Given the description of an element on the screen output the (x, y) to click on. 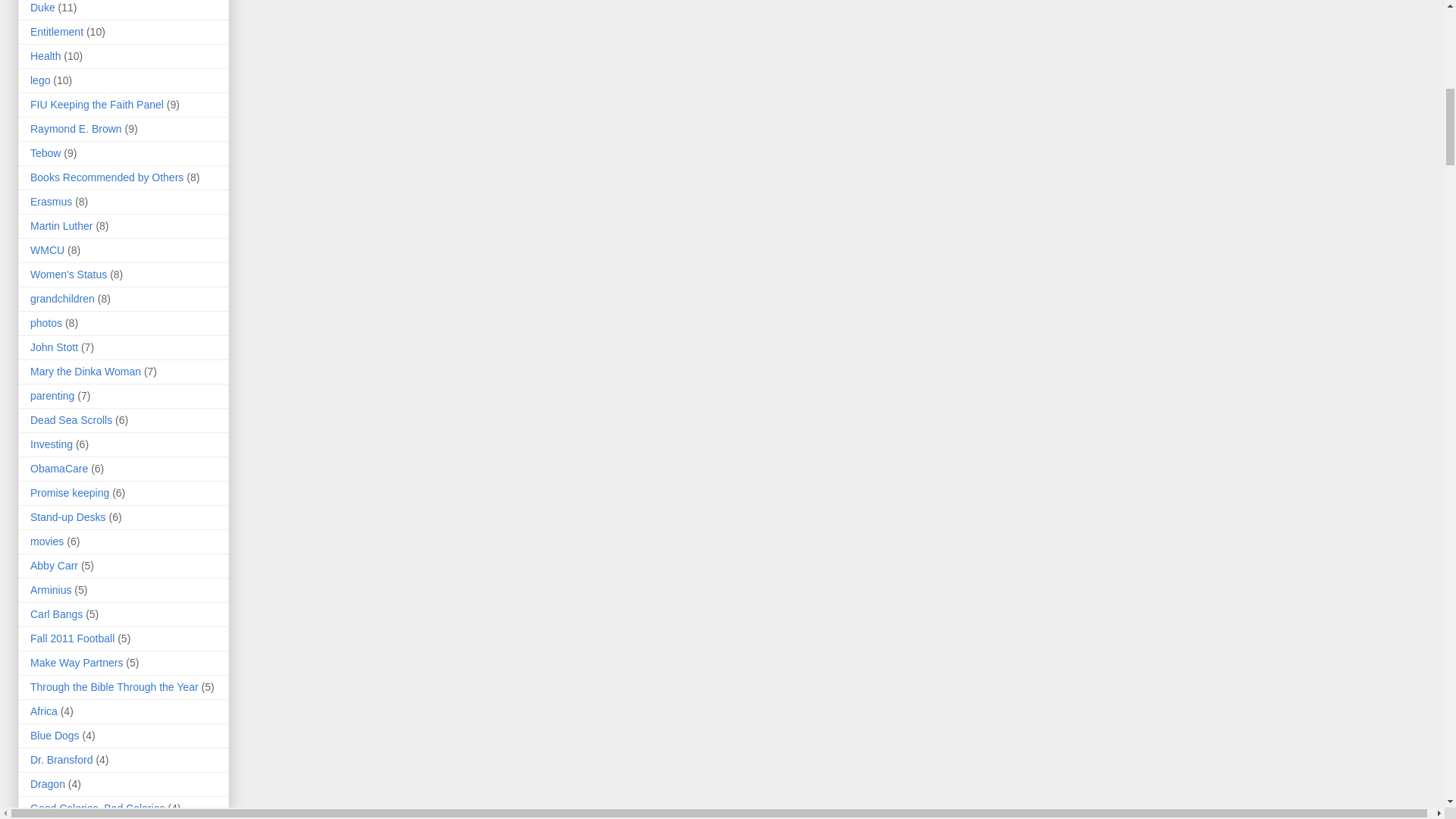
Erasmus (50, 201)
FIU Keeping the Faith Panel (96, 104)
Duke (42, 7)
Women's Status (68, 274)
Raymond E. Brown (76, 128)
Martin Luther (61, 225)
Tebow (45, 152)
Health (45, 55)
lego (39, 80)
Entitlement (56, 31)
WMCU (47, 250)
Books Recommended by Others (106, 177)
